Given the description of an element on the screen output the (x, y) to click on. 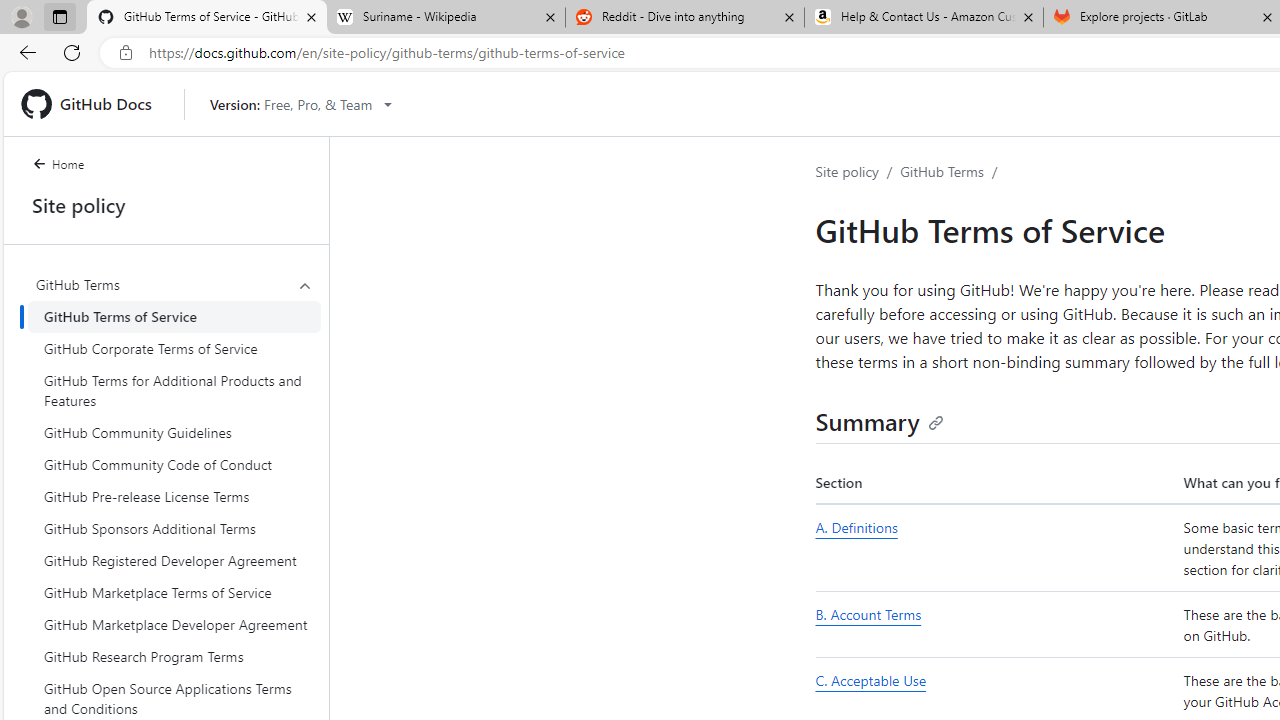
GitHub Terms of Service (174, 316)
GitHub Terms for Additional Products and Features (174, 390)
A. Definitions (995, 548)
GitHub Research Program Terms (174, 656)
GitHub Corporate Terms of Service (174, 348)
GitHub Terms (941, 171)
GitHub Terms (174, 284)
GitHub Registered Developer Agreement (174, 560)
Suriname - Wikipedia (445, 17)
GitHub Marketplace Developer Agreement (174, 624)
GitHub Docs (93, 103)
GitHub Terms of Service (174, 316)
GitHub Community Guidelines (174, 432)
GitHub Terms of Service - GitHub Docs (207, 17)
